Given the description of an element on the screen output the (x, y) to click on. 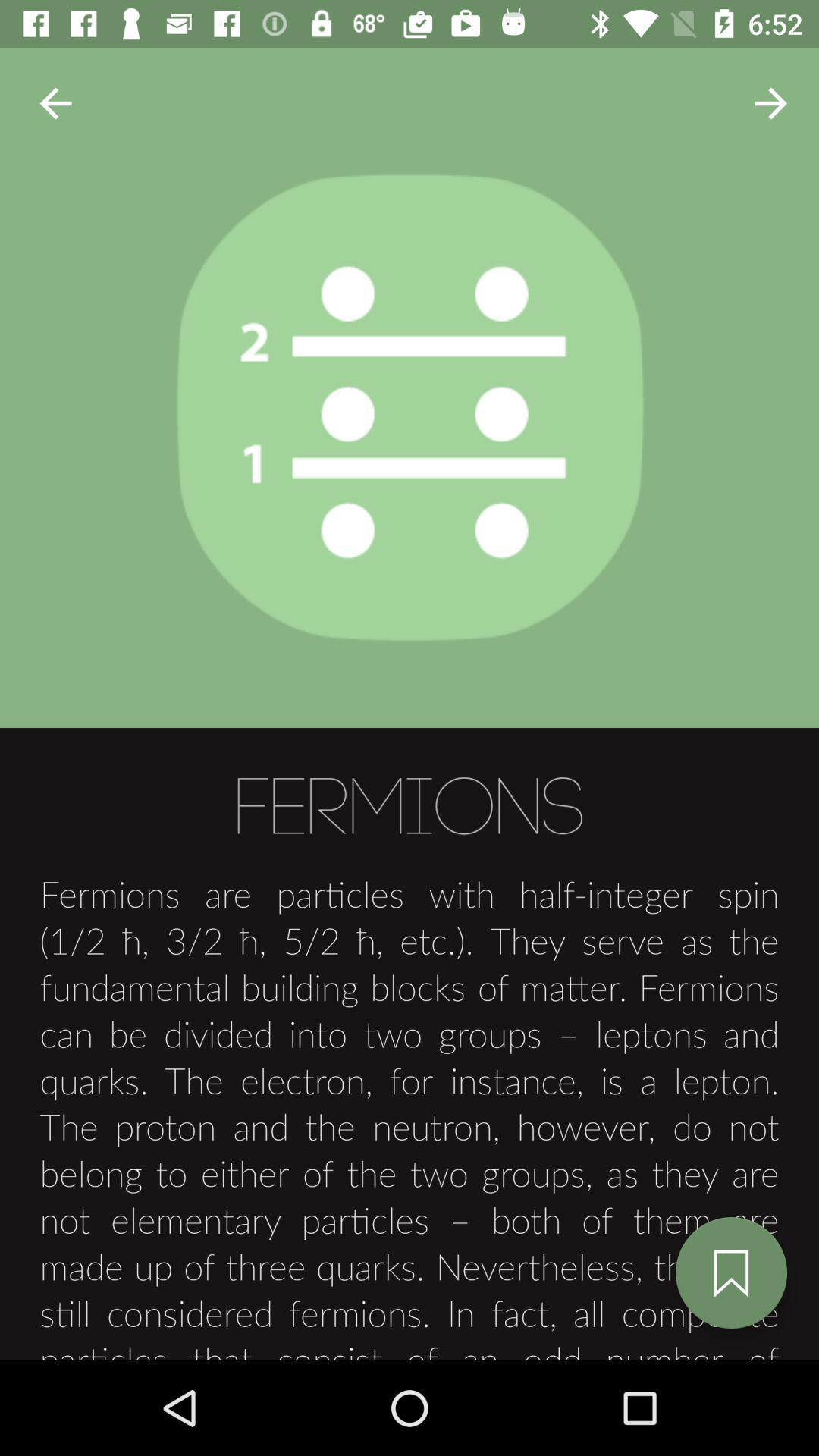
go to next (55, 103)
